Given the description of an element on the screen output the (x, y) to click on. 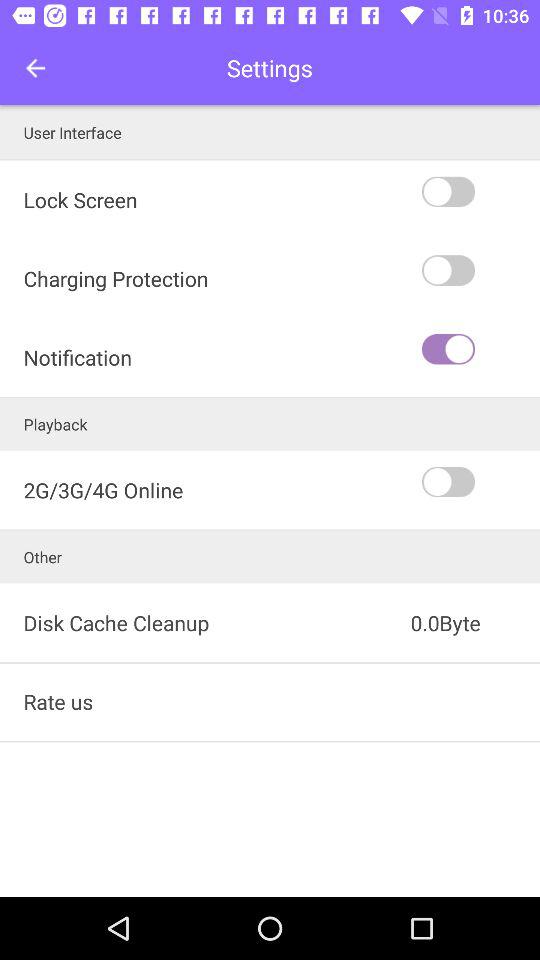
tap icon to the right of charging protection icon (479, 349)
